Given the description of an element on the screen output the (x, y) to click on. 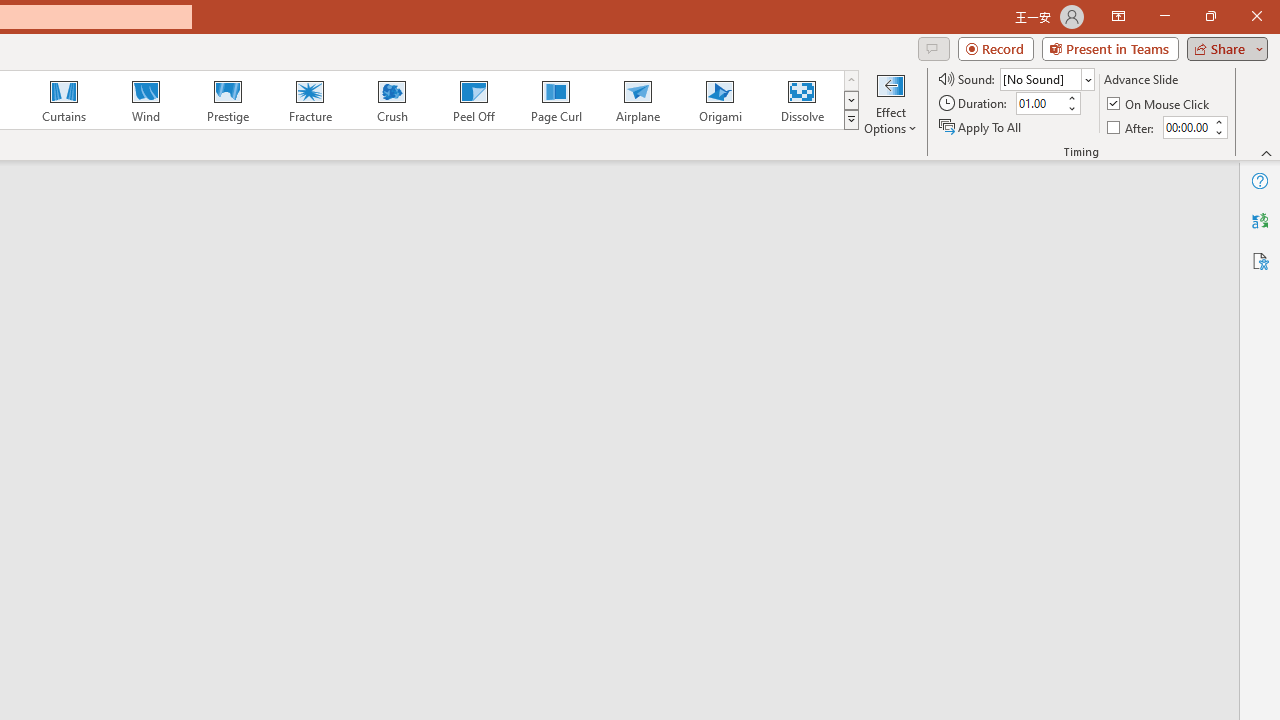
Curtains (63, 100)
On Mouse Click (1159, 103)
Wind (145, 100)
Sound (1046, 78)
Page Curl (555, 100)
